Given the description of an element on the screen output the (x, y) to click on. 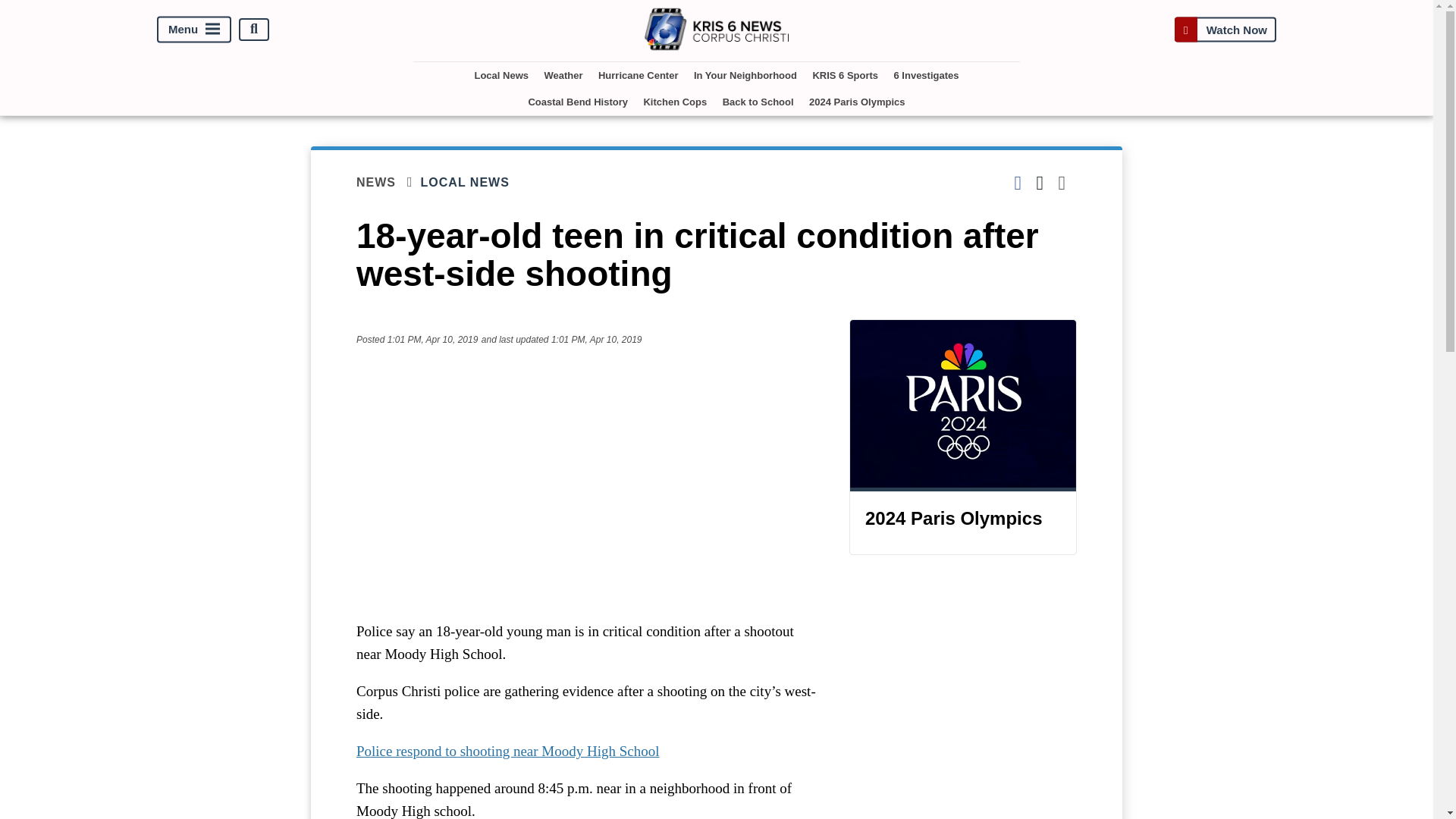
Menu (194, 28)
YouTube player (587, 475)
Watch Now (1224, 29)
